Given the description of an element on the screen output the (x, y) to click on. 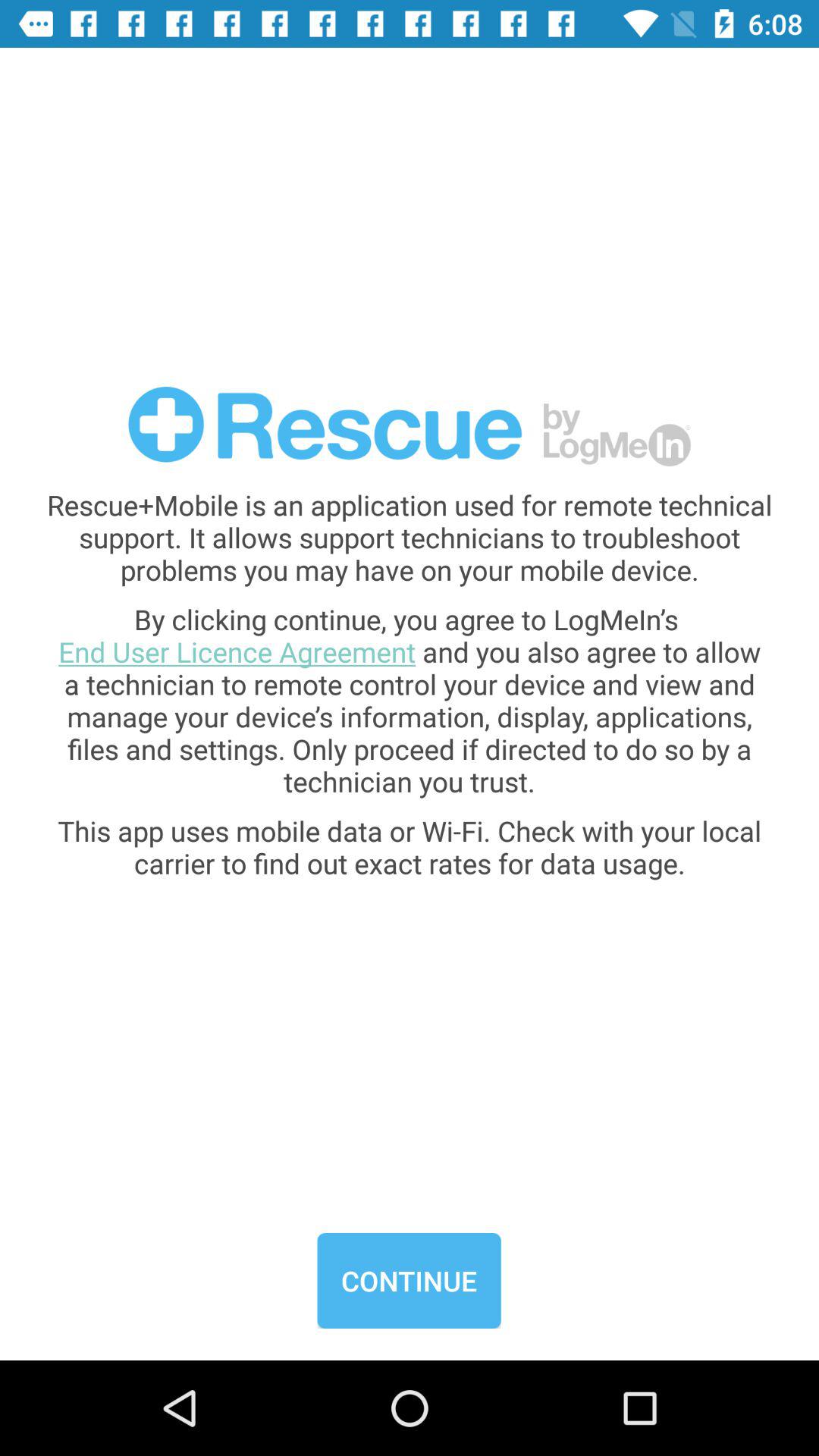
tap by clicking continue item (409, 700)
